Given the description of an element on the screen output the (x, y) to click on. 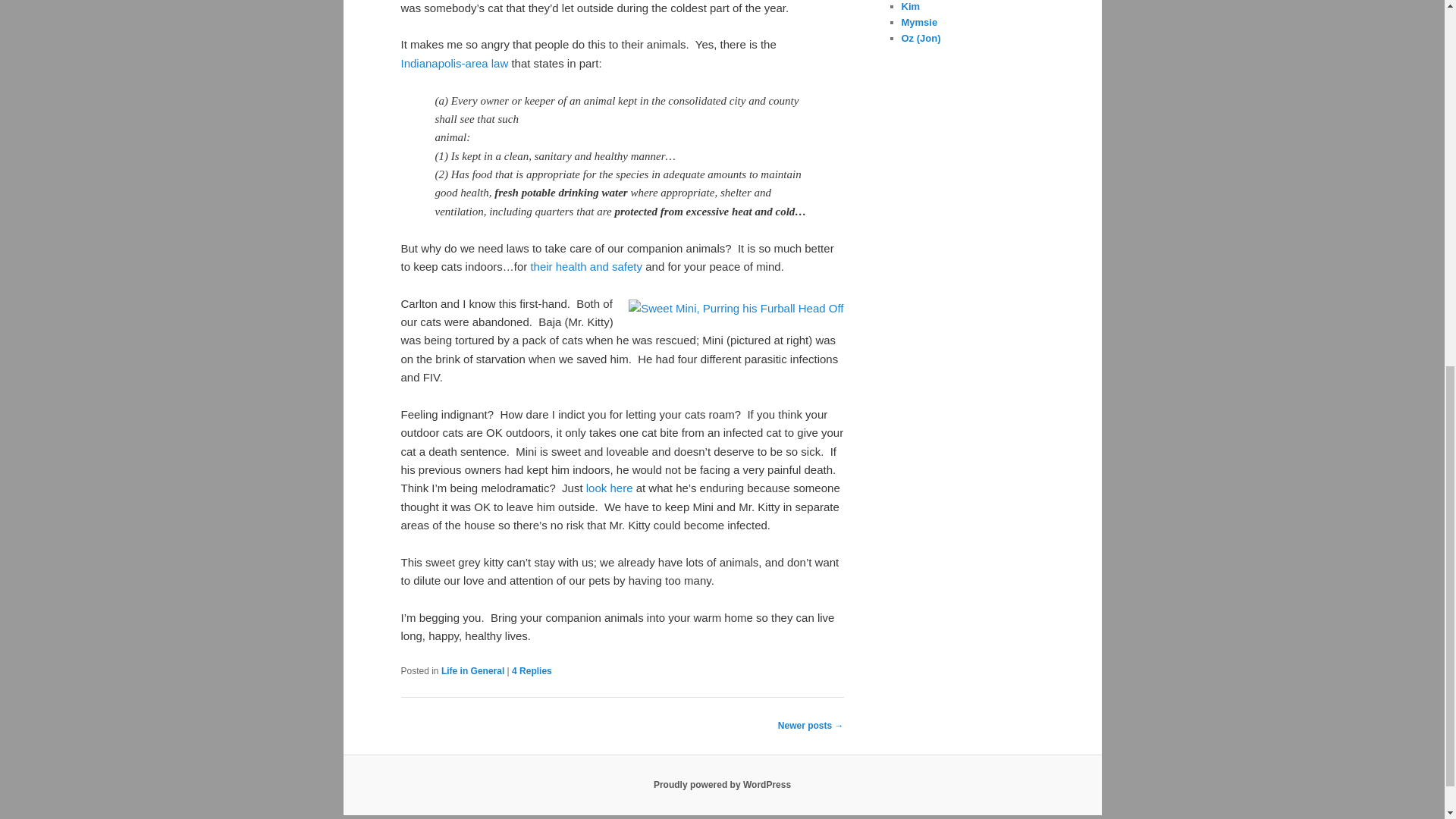
Semantic Personal Publishing Platform (721, 784)
look here (609, 487)
Indianapolis-area law (454, 62)
4 Replies (531, 670)
Life in General (472, 670)
their health and safety (585, 266)
Gaming and the darker side of life. (920, 38)
Sweet Mini, Purring his Furball Head Off (735, 308)
Ooo! Shiny!  (919, 21)
